Given the description of an element on the screen output the (x, y) to click on. 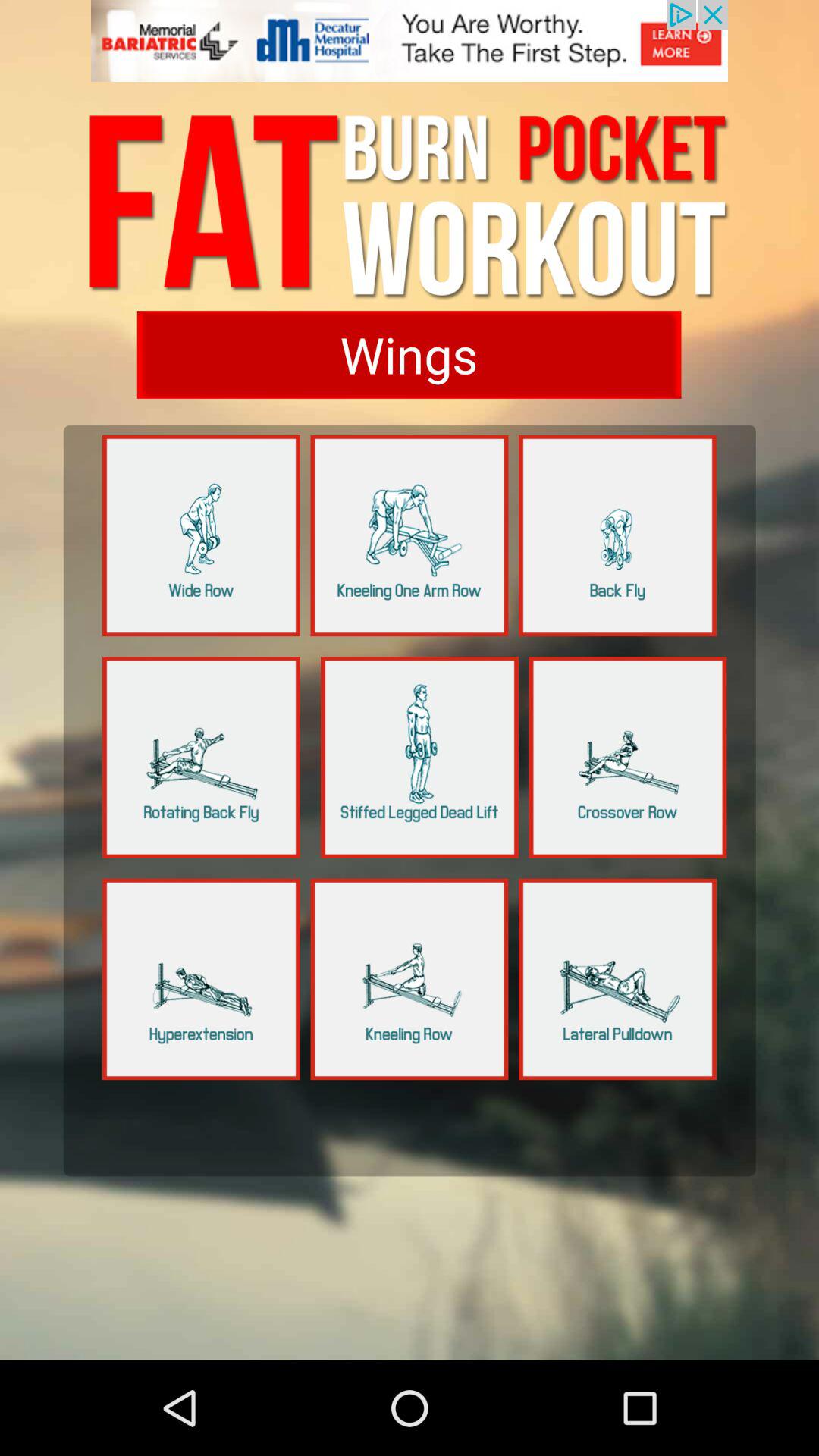
visit advertiser (409, 49)
